Given the description of an element on the screen output the (x, y) to click on. 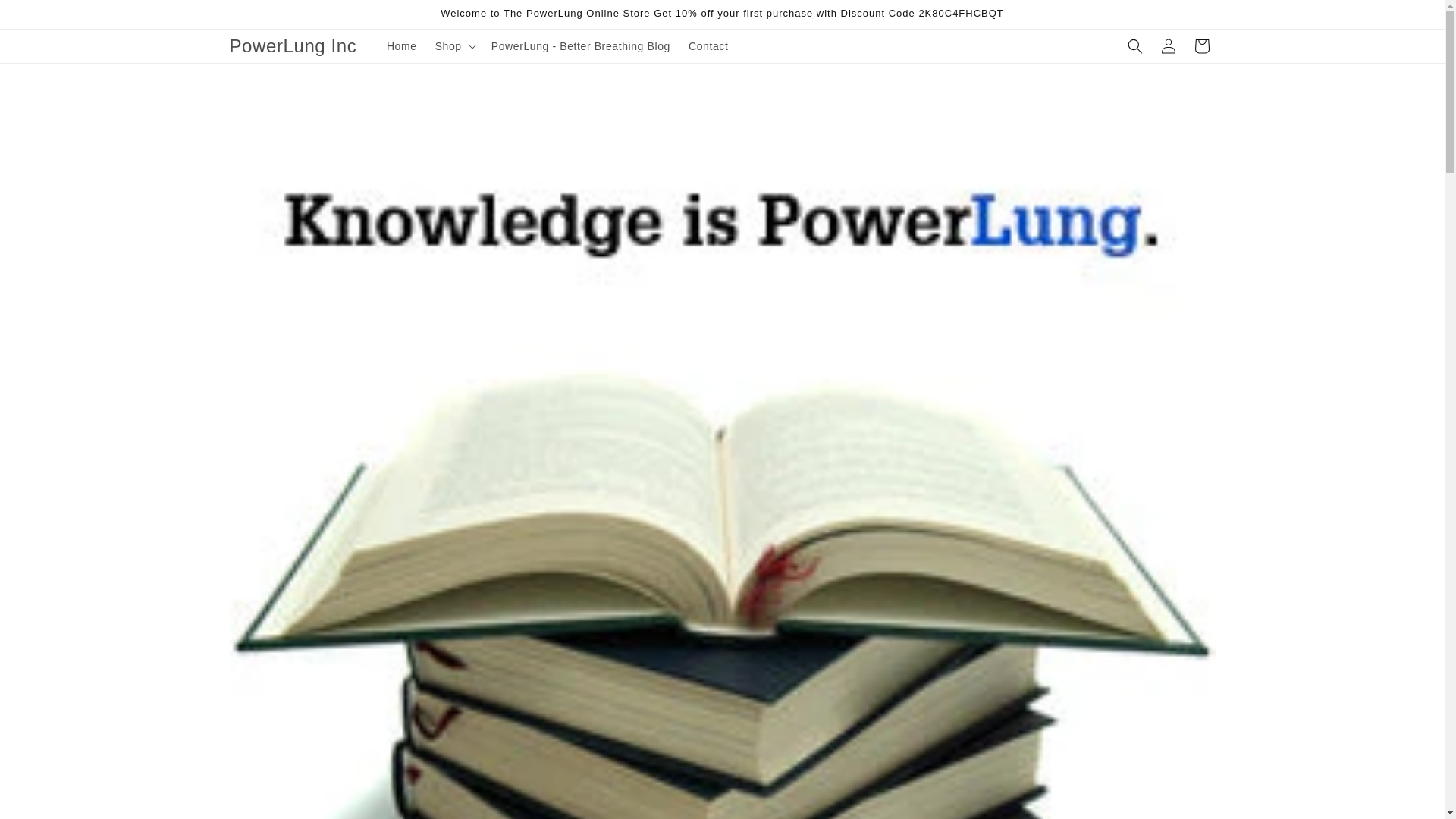
PowerLung - Better Breathing Blog (580, 46)
Home (401, 46)
Skip to content (45, 17)
Contact (707, 46)
Cart (1201, 46)
PowerLung Inc (293, 46)
Log in (1168, 46)
